Given the description of an element on the screen output the (x, y) to click on. 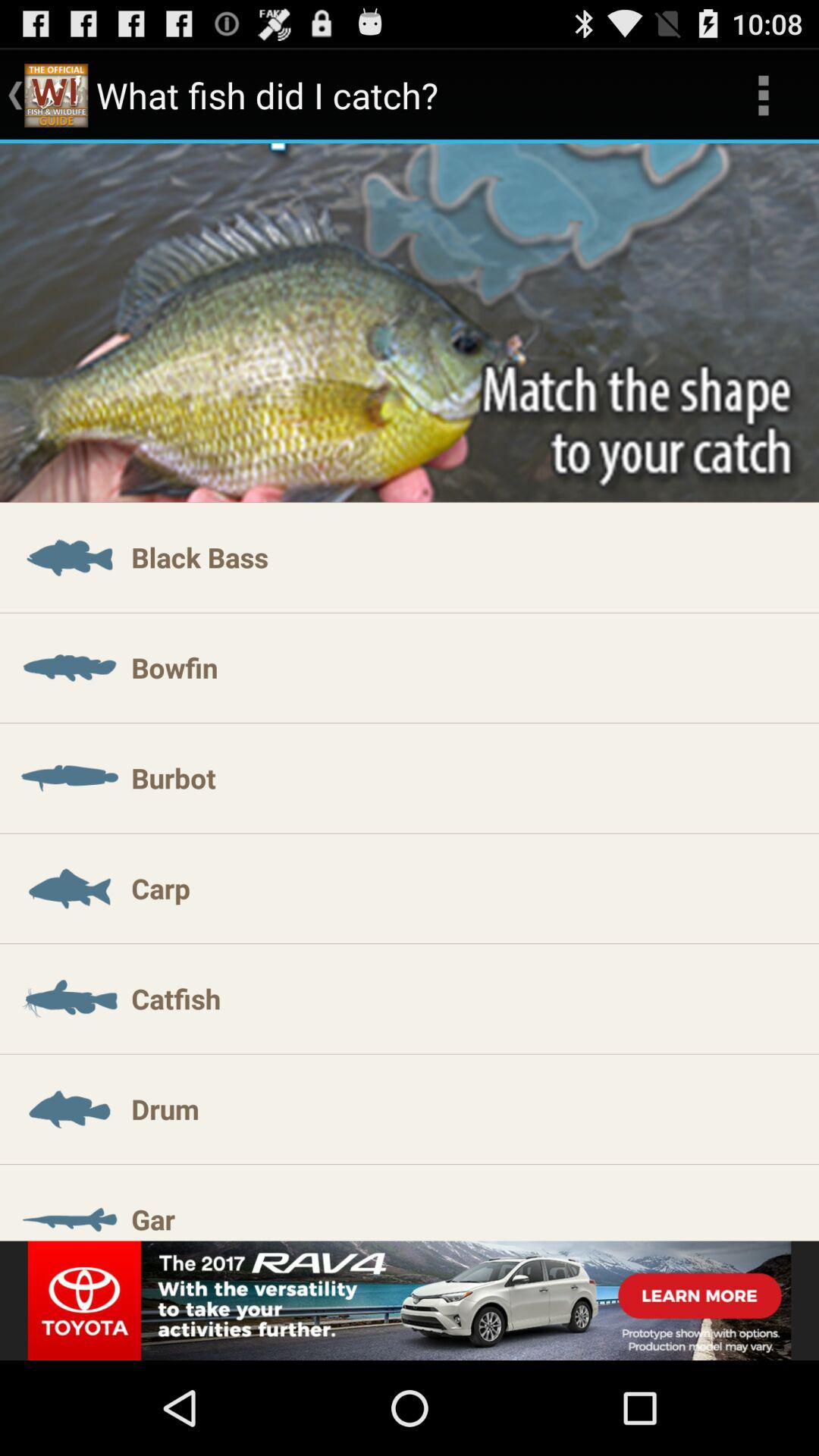
adventisment page (409, 1300)
